Given the description of an element on the screen output the (x, y) to click on. 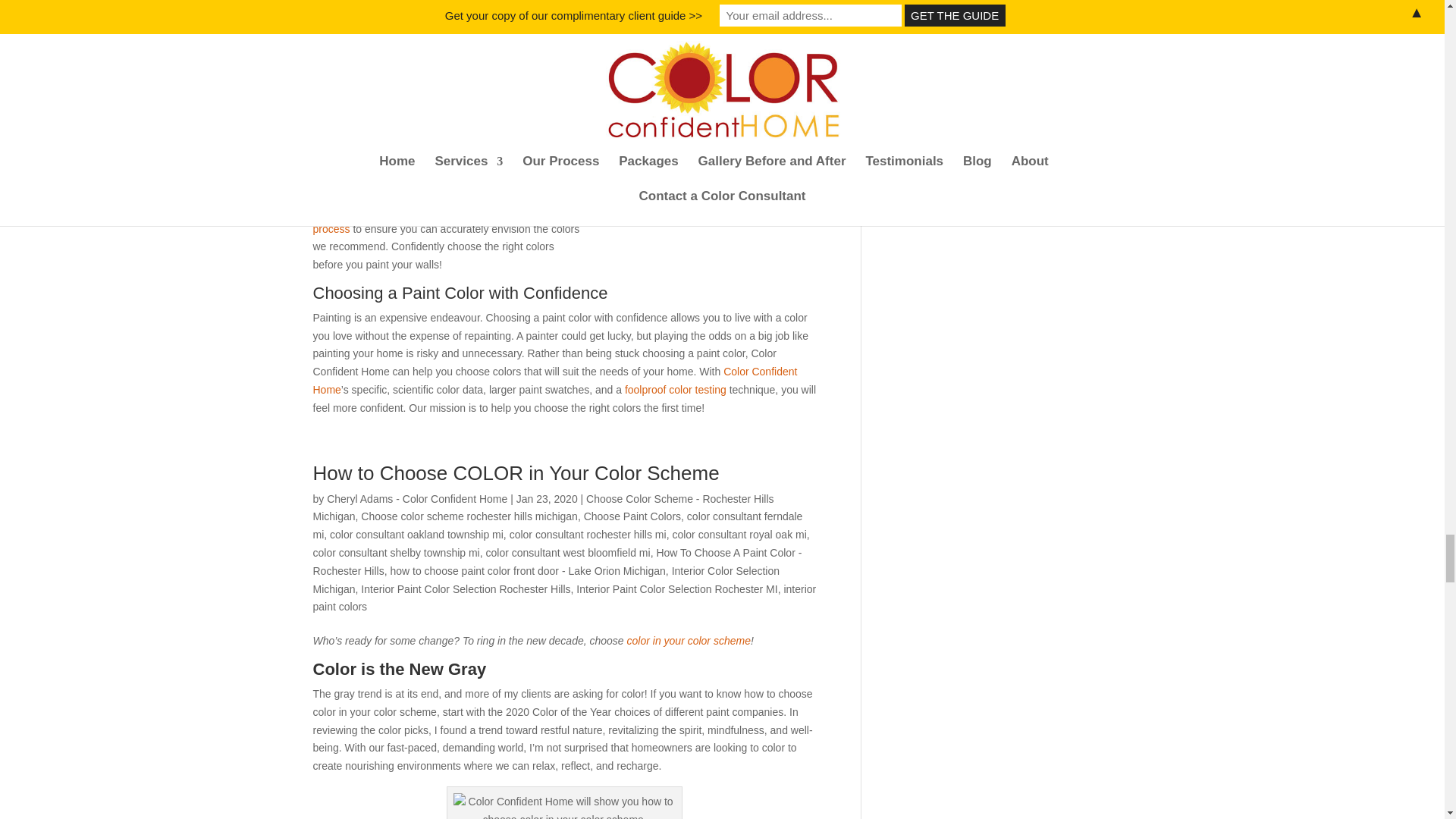
Lighting Enlightenment (703, 119)
Posts by Cheryl Adams - Color Confident Home (416, 499)
